Given the description of an element on the screen output the (x, y) to click on. 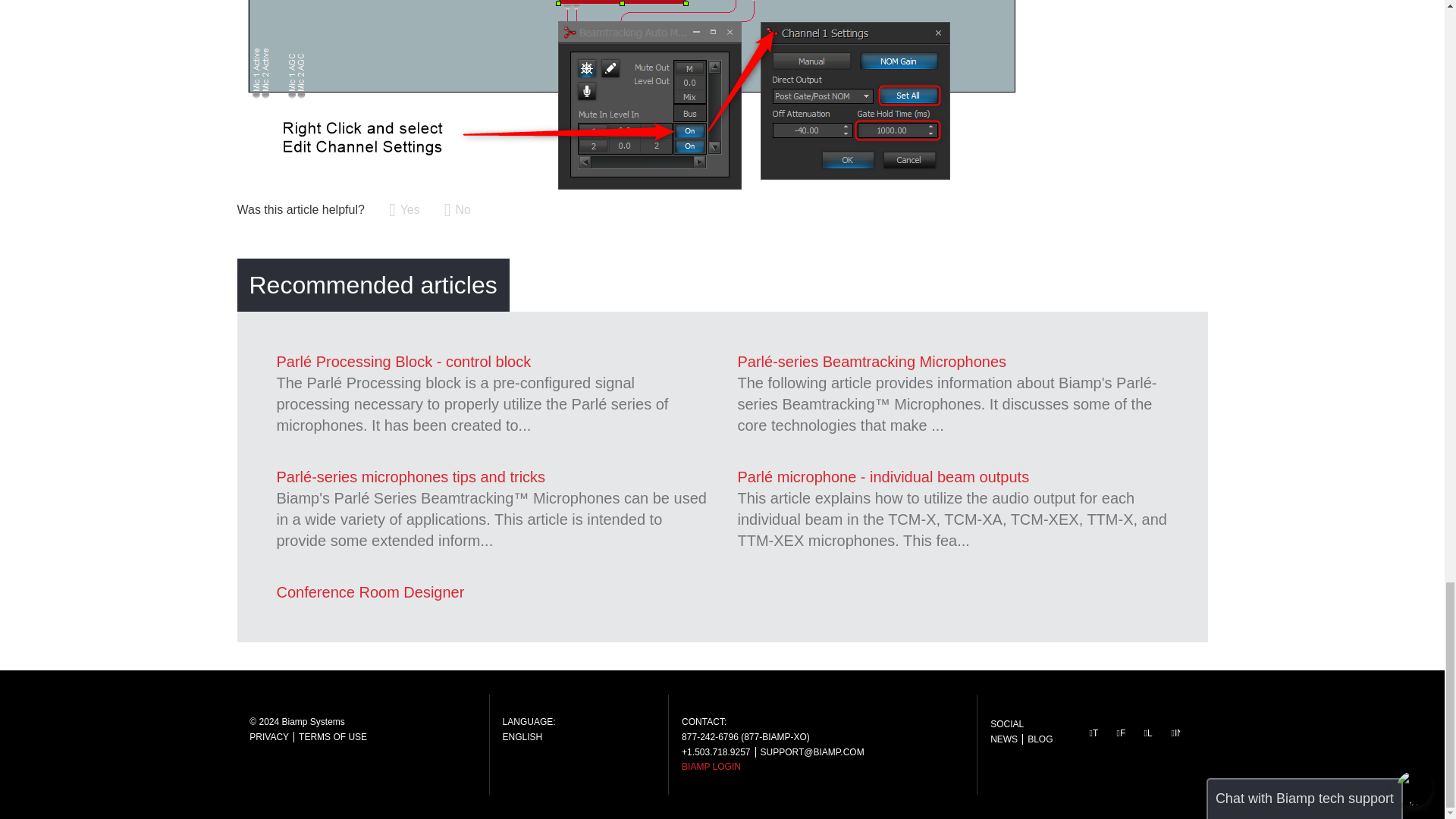
Yes (404, 209)
No (457, 209)
